Given the description of an element on the screen output the (x, y) to click on. 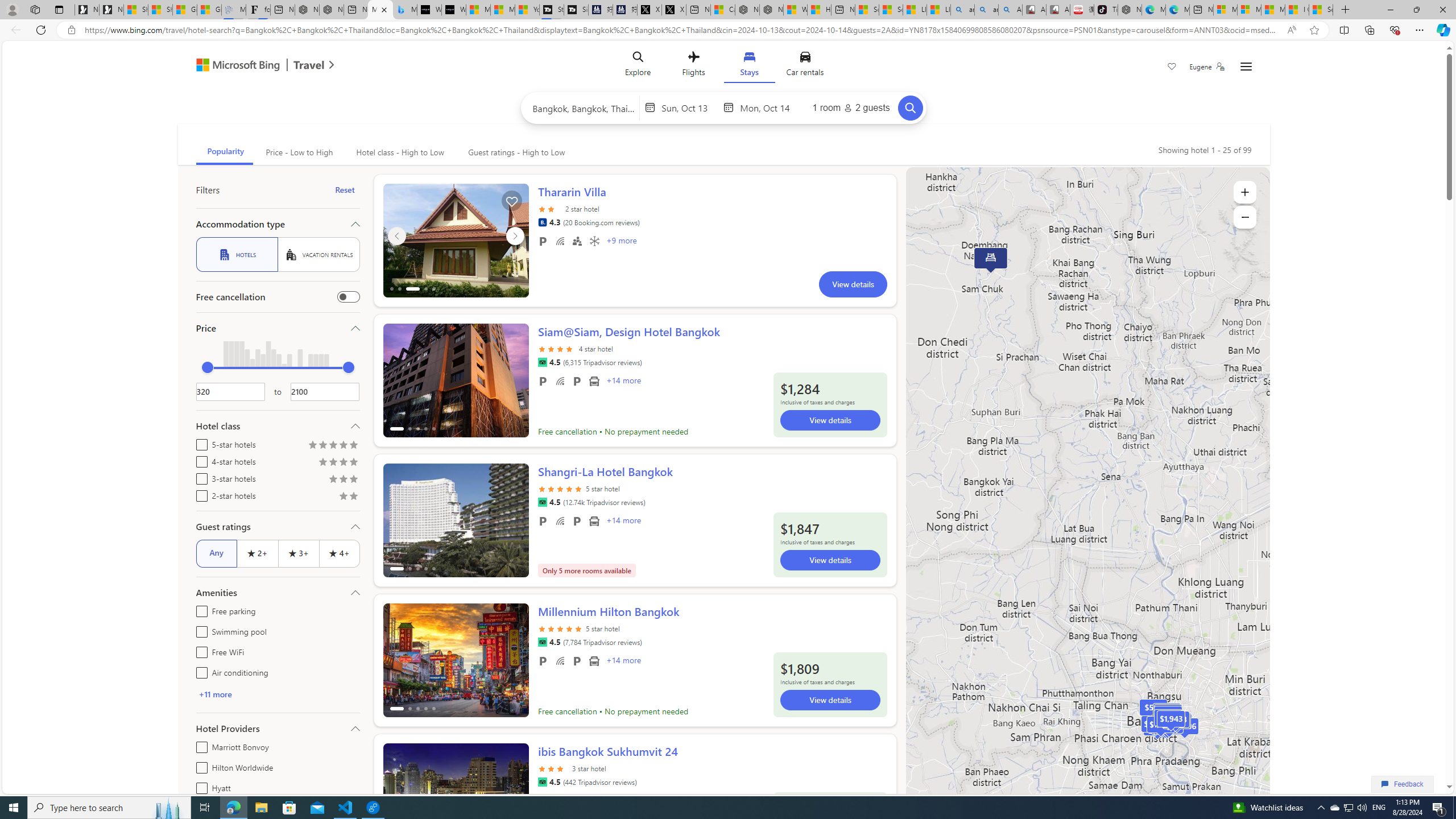
Popularity (224, 152)
Hyatt (199, 786)
3+ (298, 553)
Hilton Worldwide (199, 765)
AutomationID: TextField872 (230, 391)
End date (767, 107)
Hotel class (277, 425)
